Given the description of an element on the screen output the (x, y) to click on. 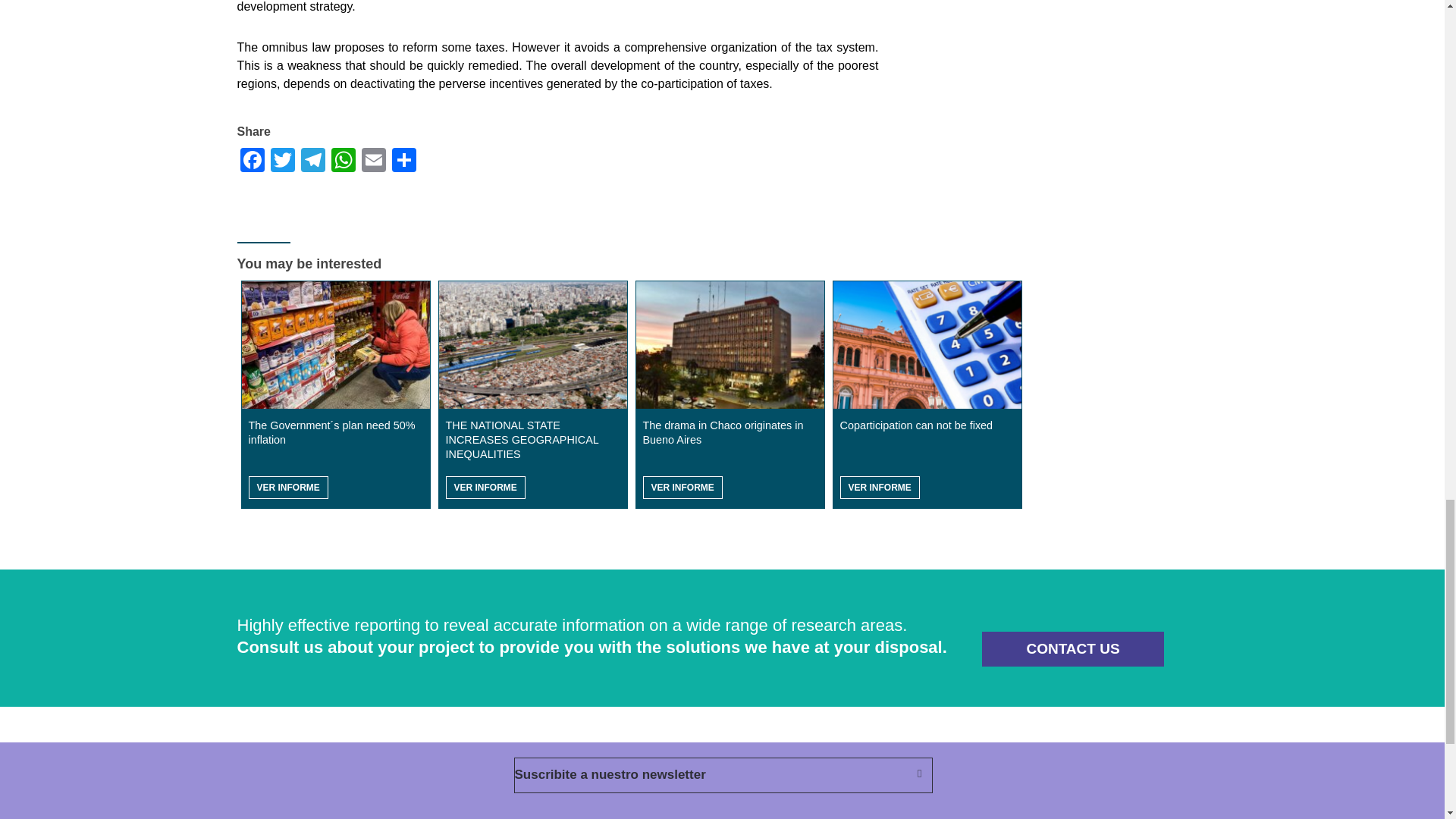
Coparticipation can not be fixed (927, 344)
Twitter (281, 159)
Telegram (312, 159)
Twitter (281, 159)
Telegram (312, 159)
Facebook (250, 159)
Email (373, 159)
Share (403, 159)
Facebook (250, 159)
WhatsApp (342, 159)
WhatsApp (342, 159)
Email (373, 159)
THE NATIONAL STATE INCREASES GEOGRAPHICAL INEQUALITIES (532, 344)
The drama in Chaco originates in Bueno Aires (729, 344)
